Given the description of an element on the screen output the (x, y) to click on. 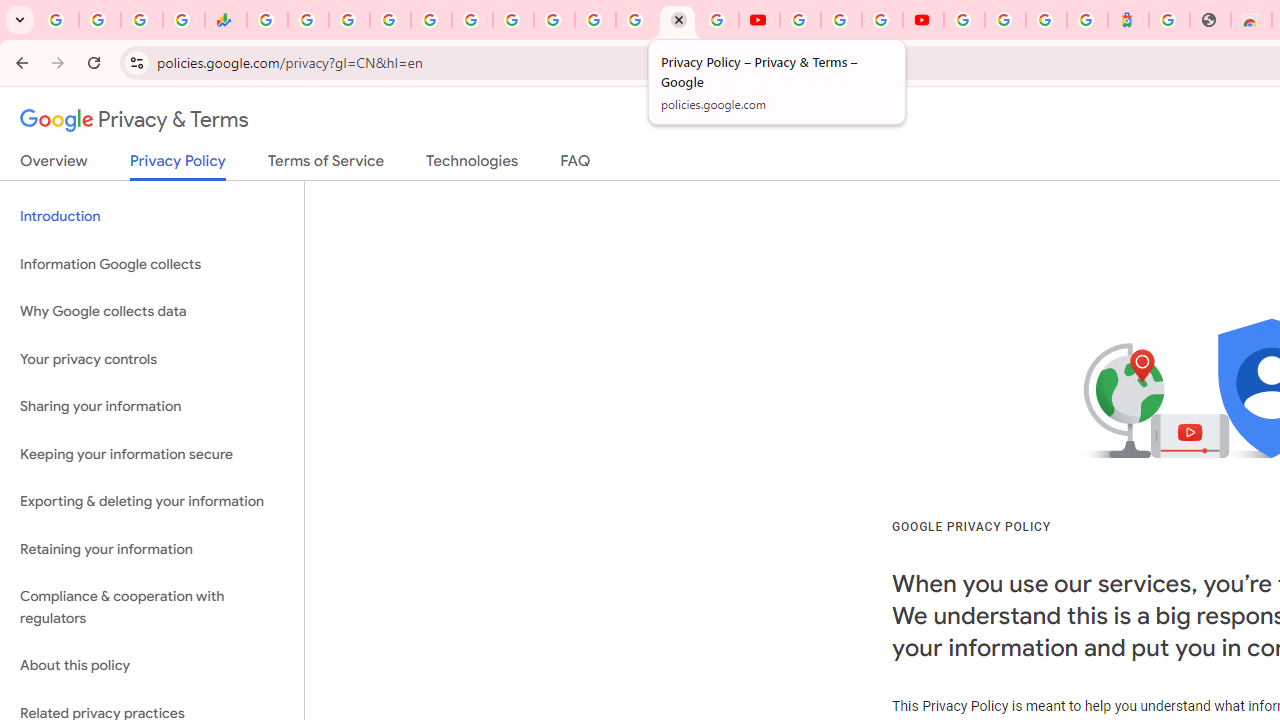
Privacy & Terms (134, 120)
Privacy Checkup (717, 20)
YouTube (758, 20)
Why Google collects data (152, 312)
Content Creator Programs & Opportunities - YouTube Creators (923, 20)
Sign in - Google Accounts (1005, 20)
YouTube (799, 20)
Technologies (472, 165)
